Given the description of an element on the screen output the (x, y) to click on. 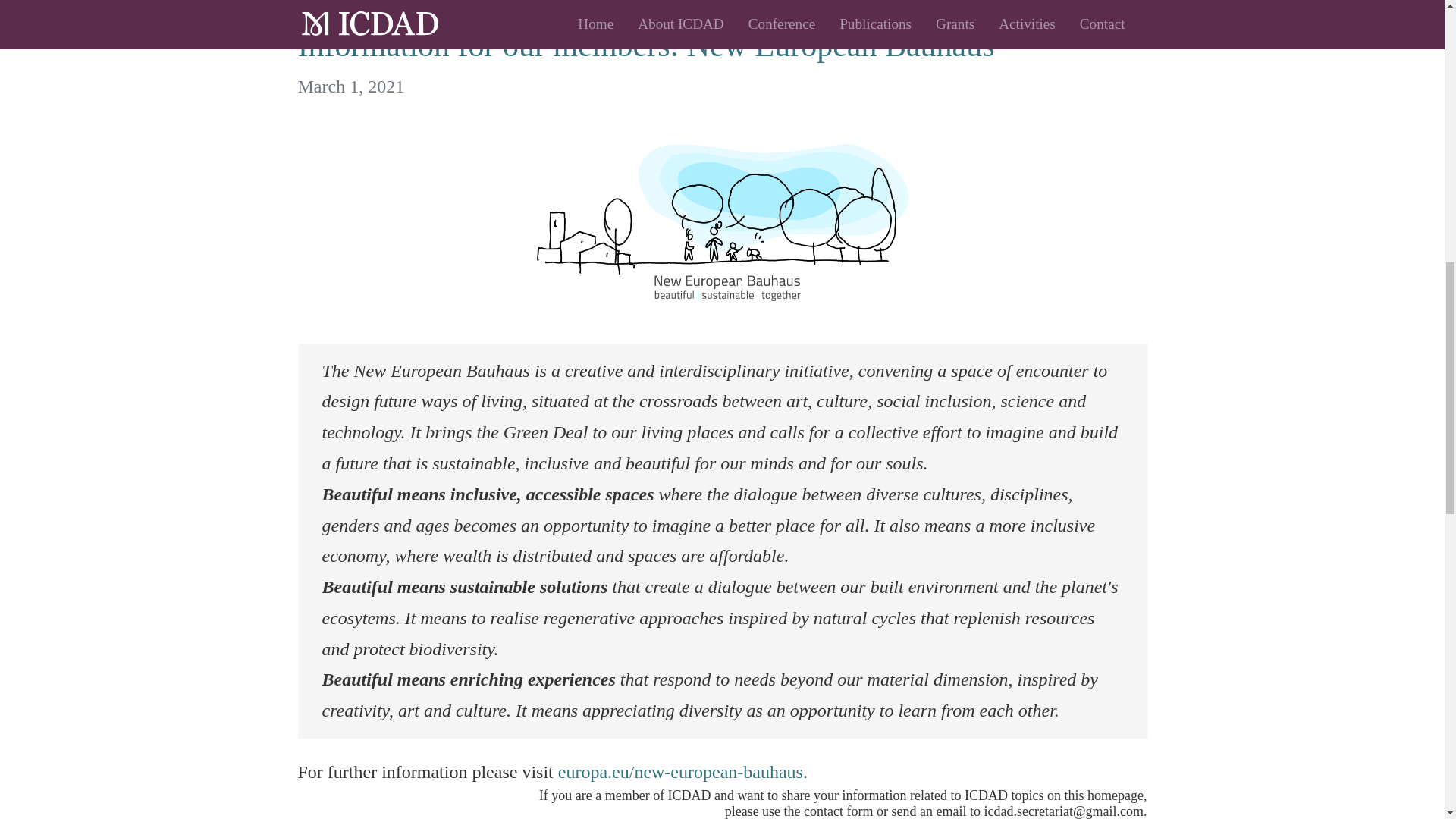
Information for our members: New European Bauhaus (722, 45)
